Given the description of an element on the screen output the (x, y) to click on. 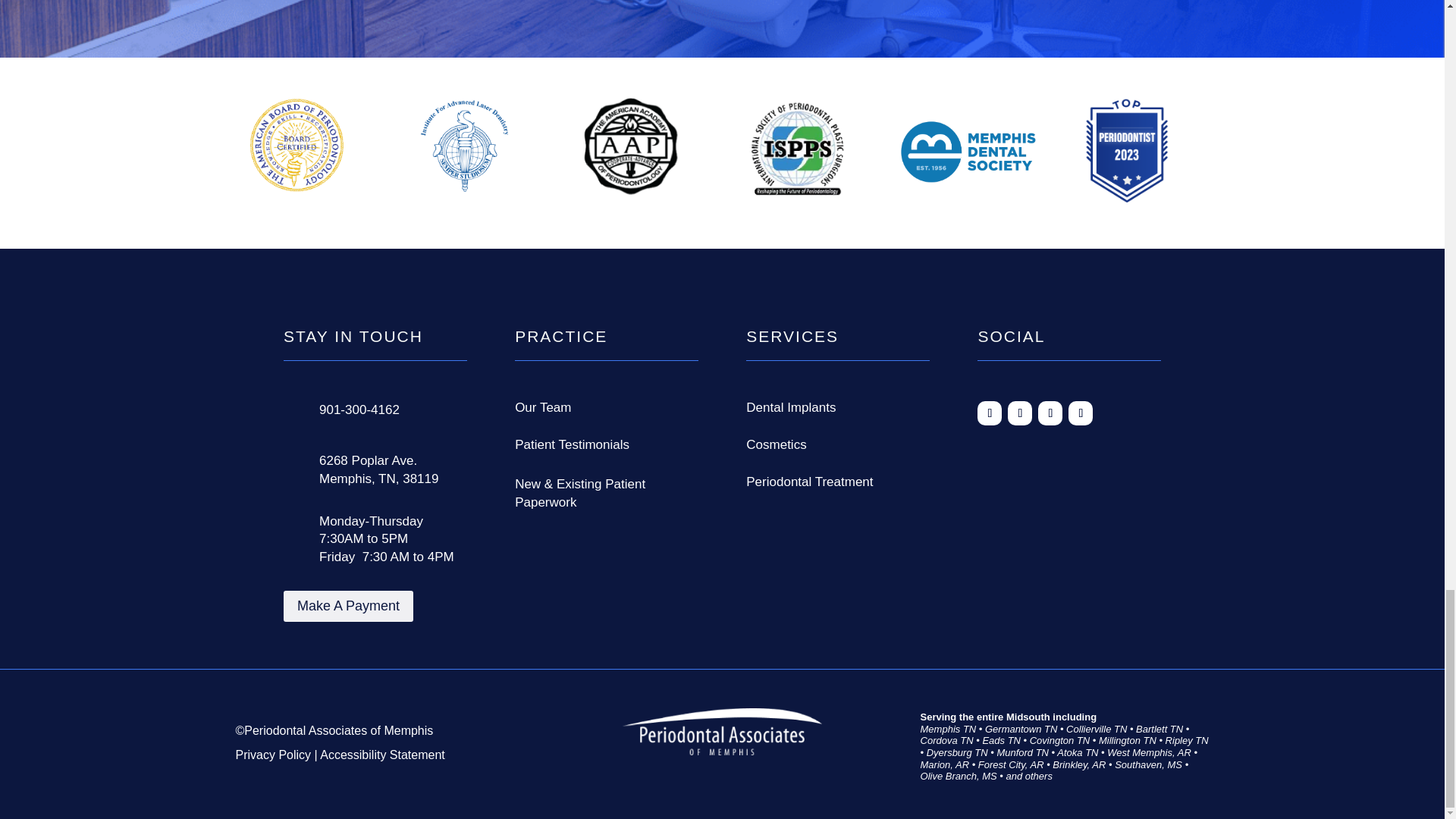
AWARDS footer-39 (967, 152)
Follow on Facebook (988, 413)
Follow on Instagram (1050, 413)
AWARDS footer-38 (796, 148)
AWARDS footer-37 (630, 145)
AWARDS footer-36 (463, 145)
Follow on Youtube (1080, 413)
AWARDS footer-35 (297, 145)
AWARDS footer-40 (1128, 149)
Follow on Google (1019, 413)
